Given the description of an element on the screen output the (x, y) to click on. 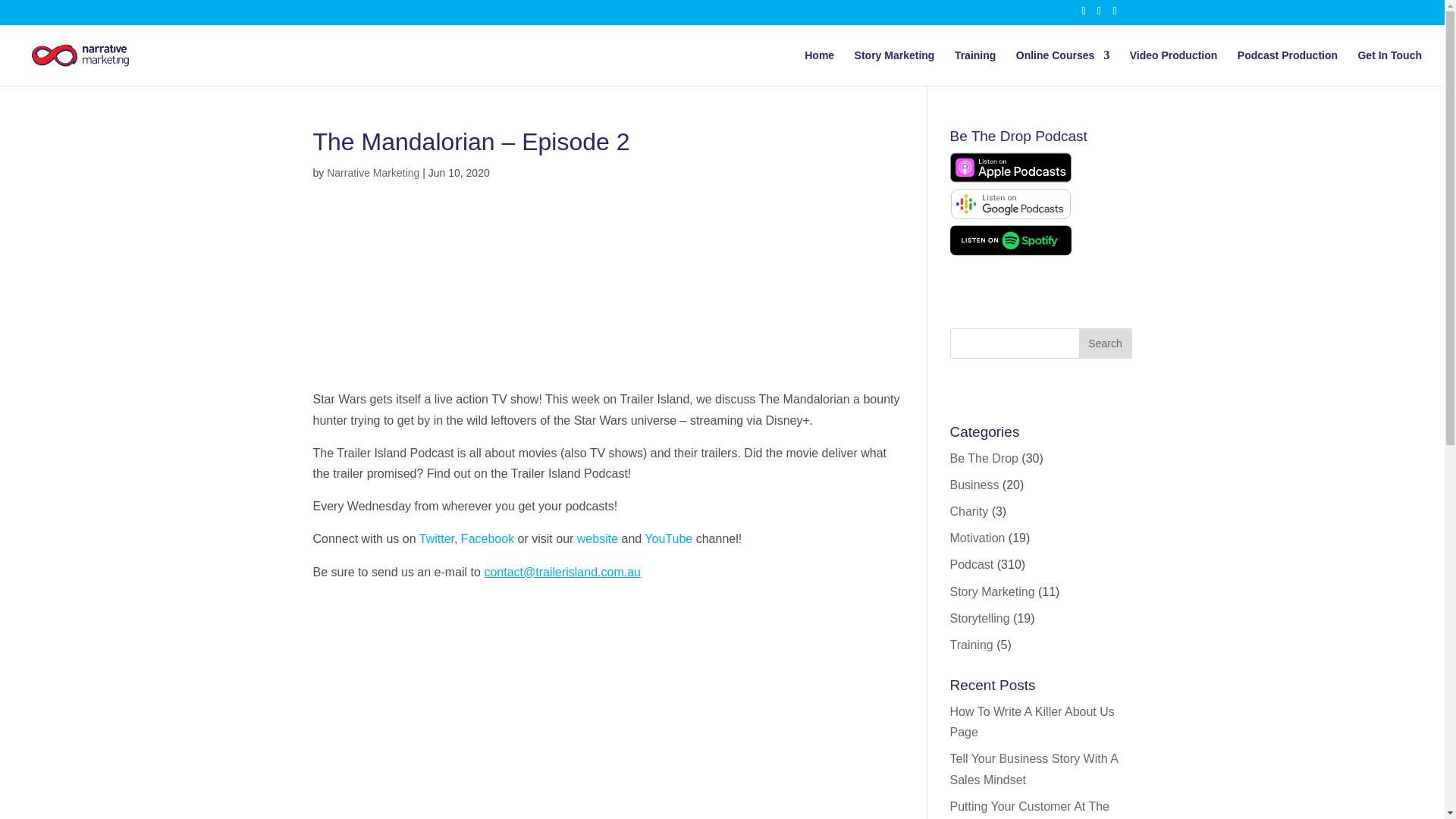
Business (973, 484)
Narrative Marketing (372, 173)
Podcast Production (1287, 67)
Home (819, 67)
YouTube (669, 538)
Story Marketing (894, 67)
Be The Drop (983, 458)
Get In Touch (1389, 67)
Charity (968, 511)
Podcast (970, 563)
website (596, 538)
Search (1104, 343)
Twitter (436, 538)
Tell Your Business Story With A Sales Mindset (1032, 768)
Training (975, 67)
